Given the description of an element on the screen output the (x, y) to click on. 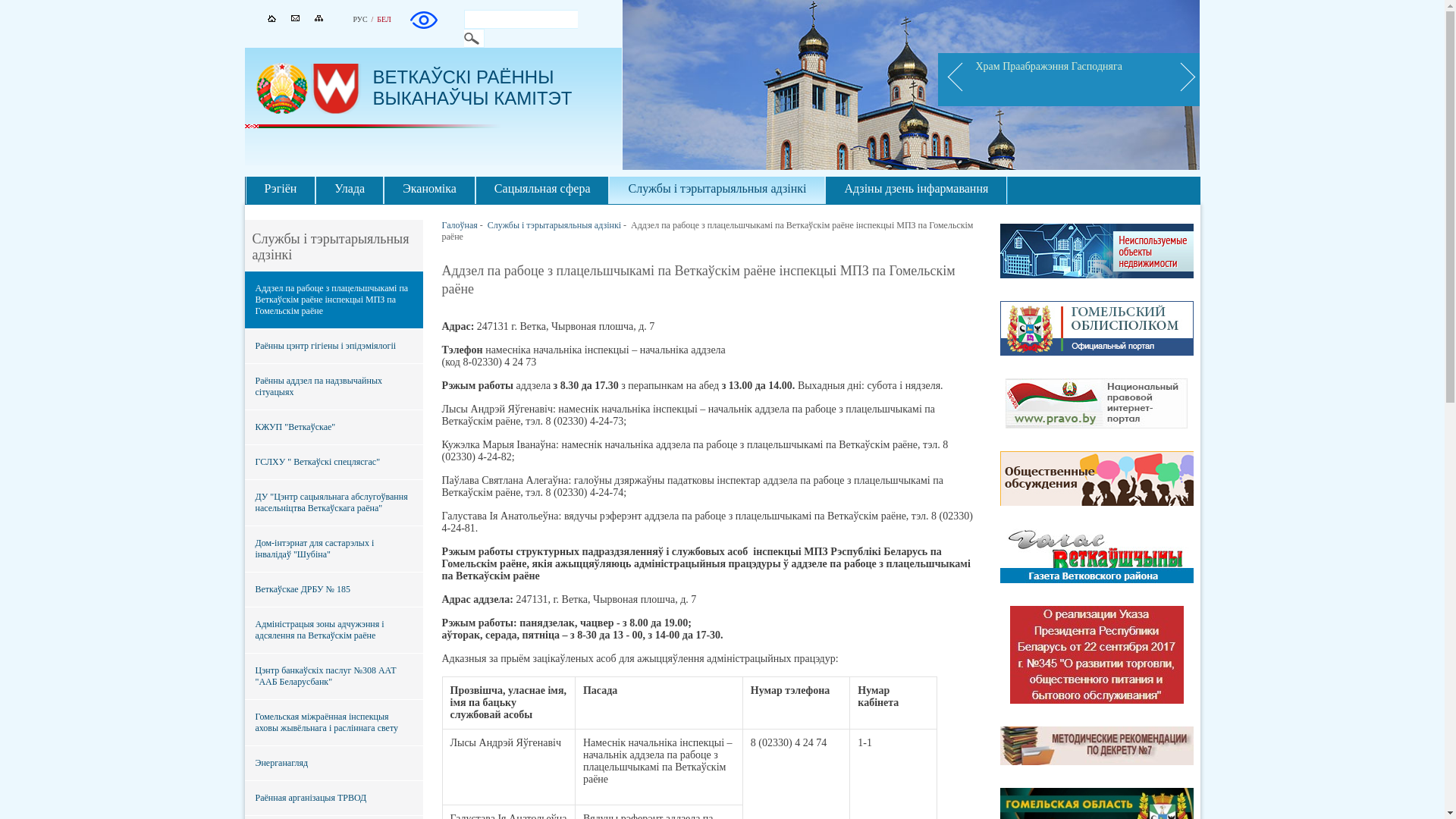
Prev Element type: text (952, 79)
Next Element type: text (1184, 79)
